Given the description of an element on the screen output the (x, y) to click on. 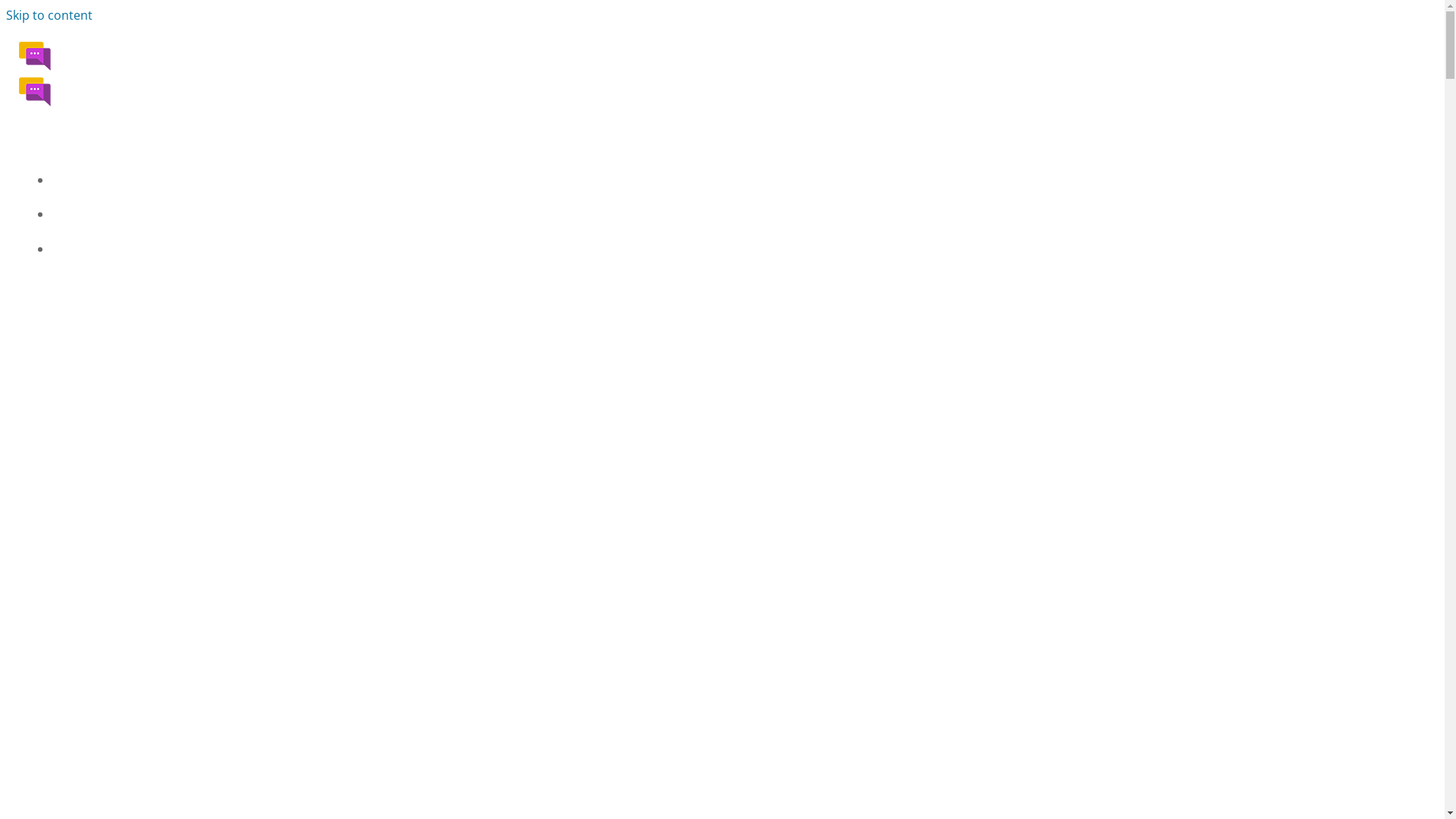
HOME Element type: text (737, 180)
Skip to content Element type: text (49, 14)
FAQ Element type: text (737, 214)
